Given the description of an element on the screen output the (x, y) to click on. 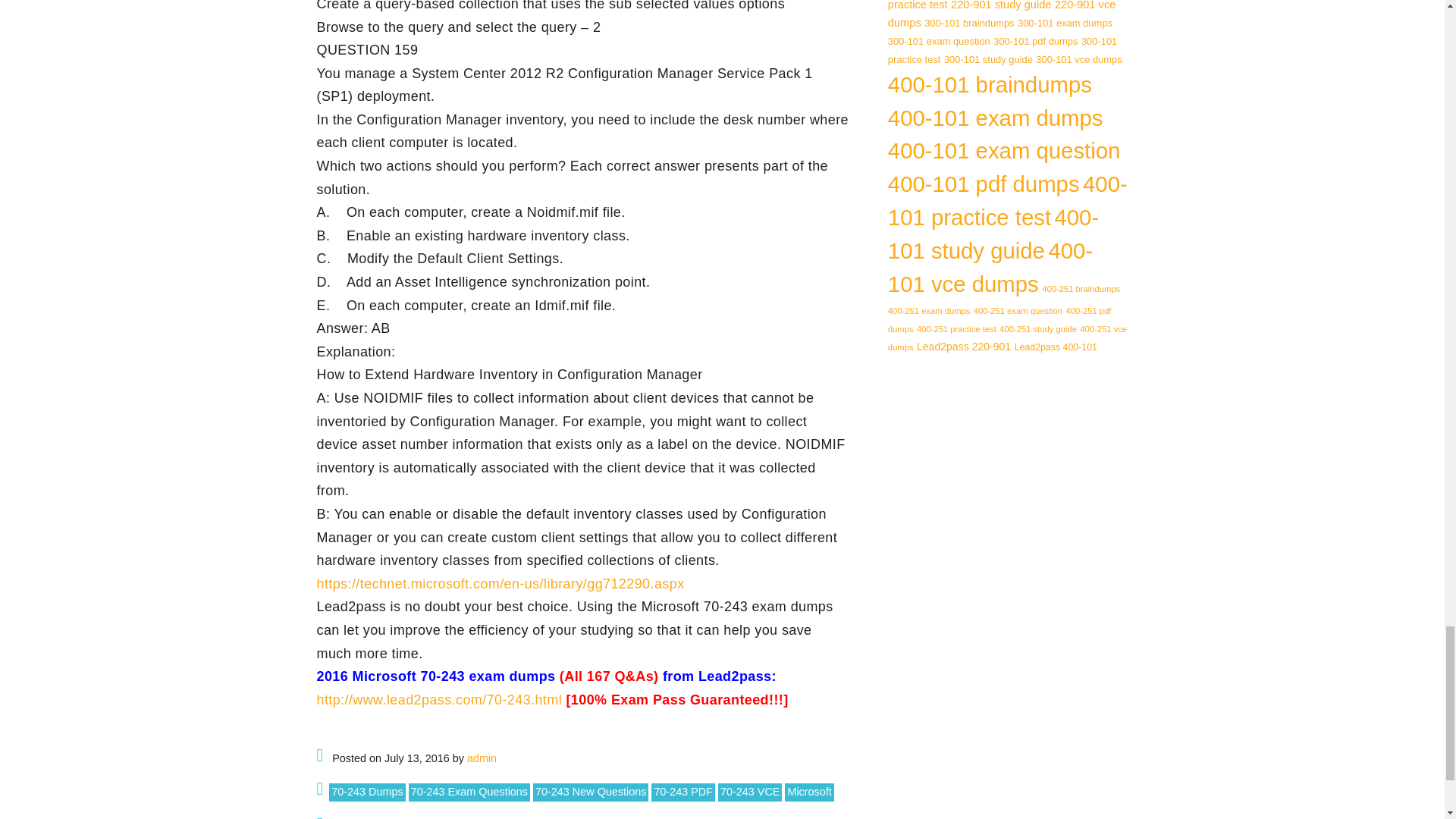
70-243 VCE (749, 791)
70-243 Dumps (366, 791)
70-243 PDF (682, 791)
admin (481, 758)
Microsoft (808, 791)
70-243 Exam Questions (469, 791)
Posts by admin (481, 758)
70-243 New Questions (589, 791)
